Given the description of an element on the screen output the (x, y) to click on. 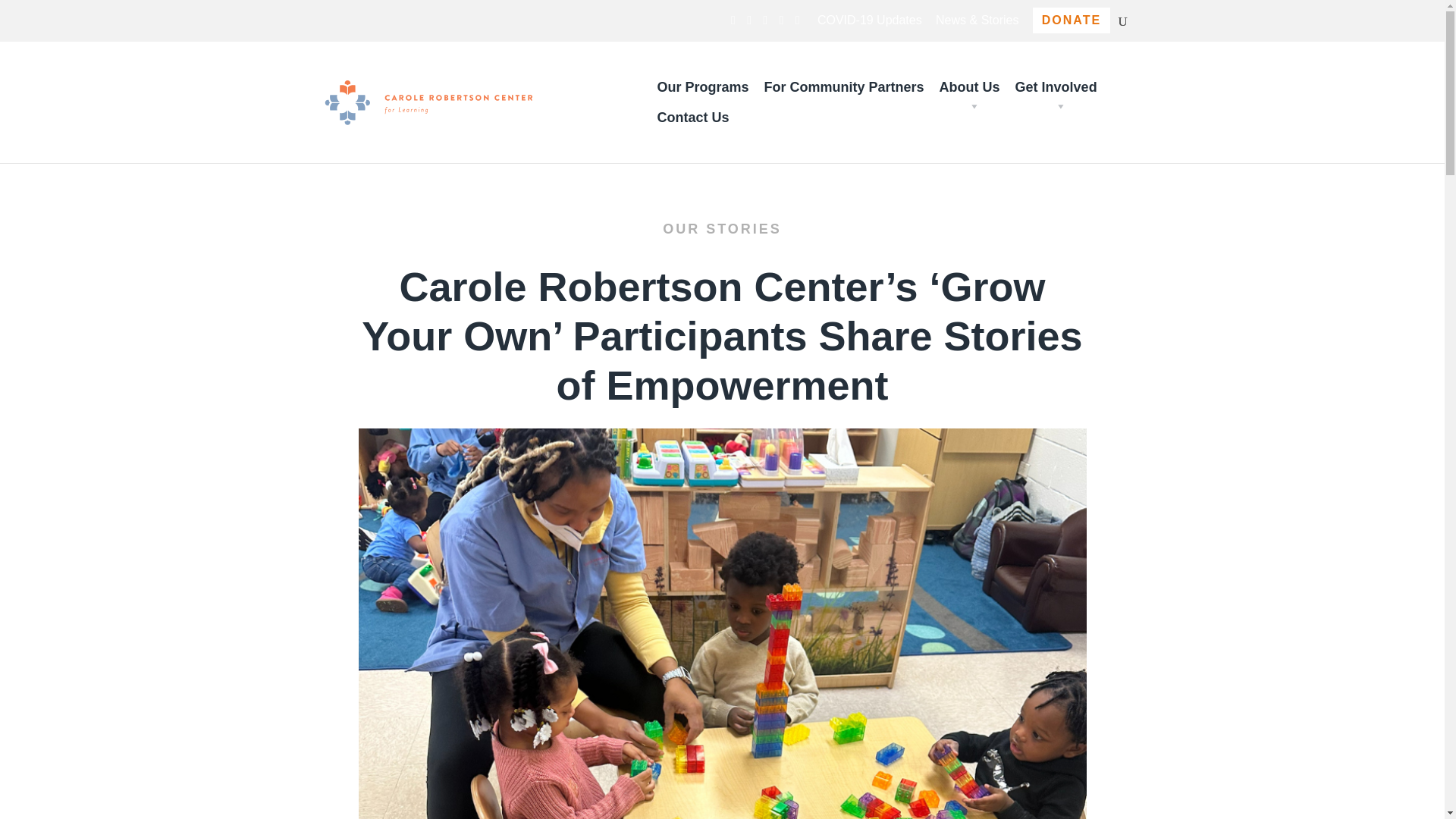
Contact Us (692, 117)
About Us (969, 87)
For Community Partners (844, 87)
COVID-19 Updates (868, 24)
Get Involved (1056, 87)
Our Programs (702, 87)
DONATE (1070, 20)
